Given the description of an element on the screen output the (x, y) to click on. 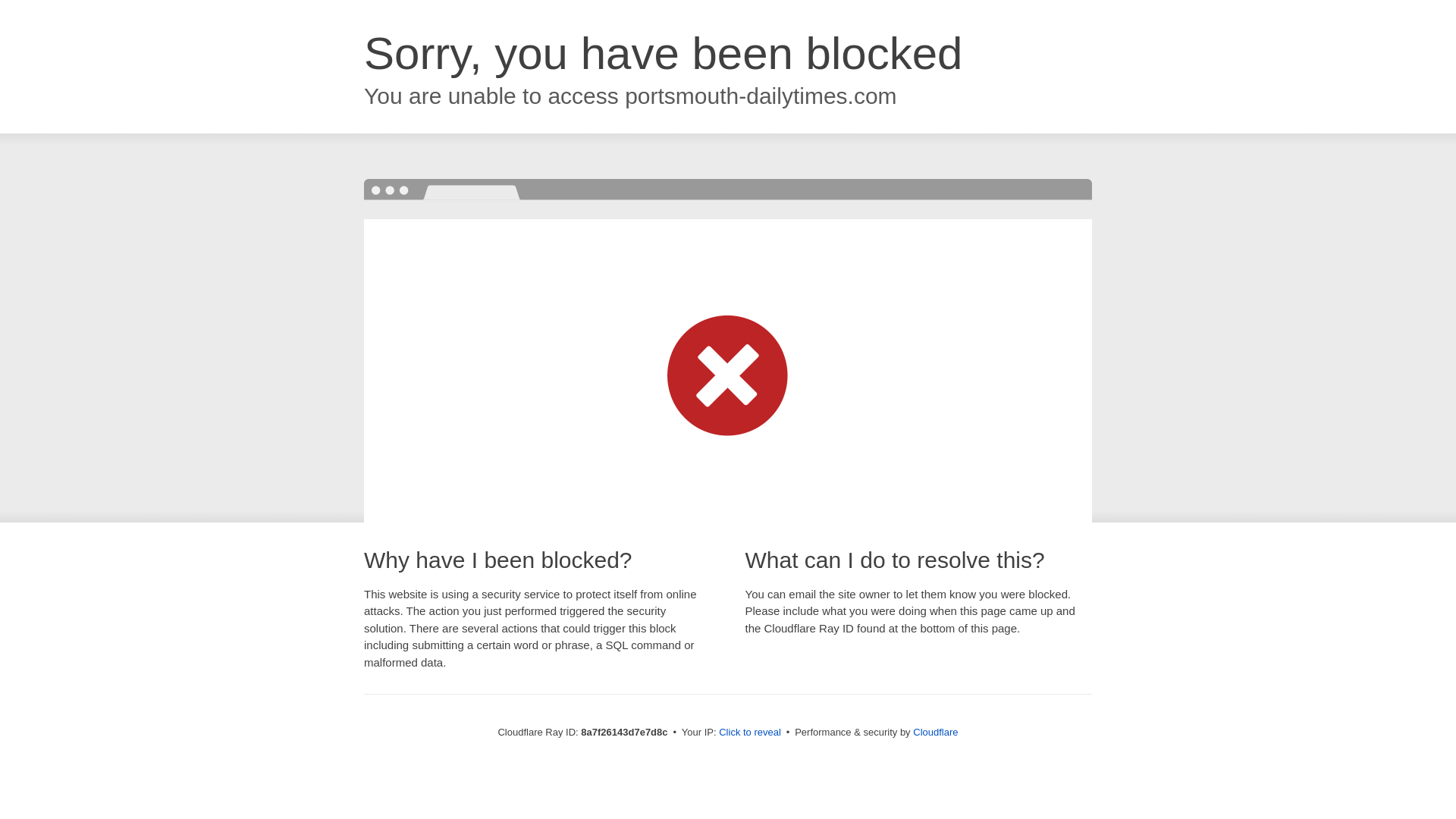
Cloudflare (935, 731)
Click to reveal (749, 732)
